Given the description of an element on the screen output the (x, y) to click on. 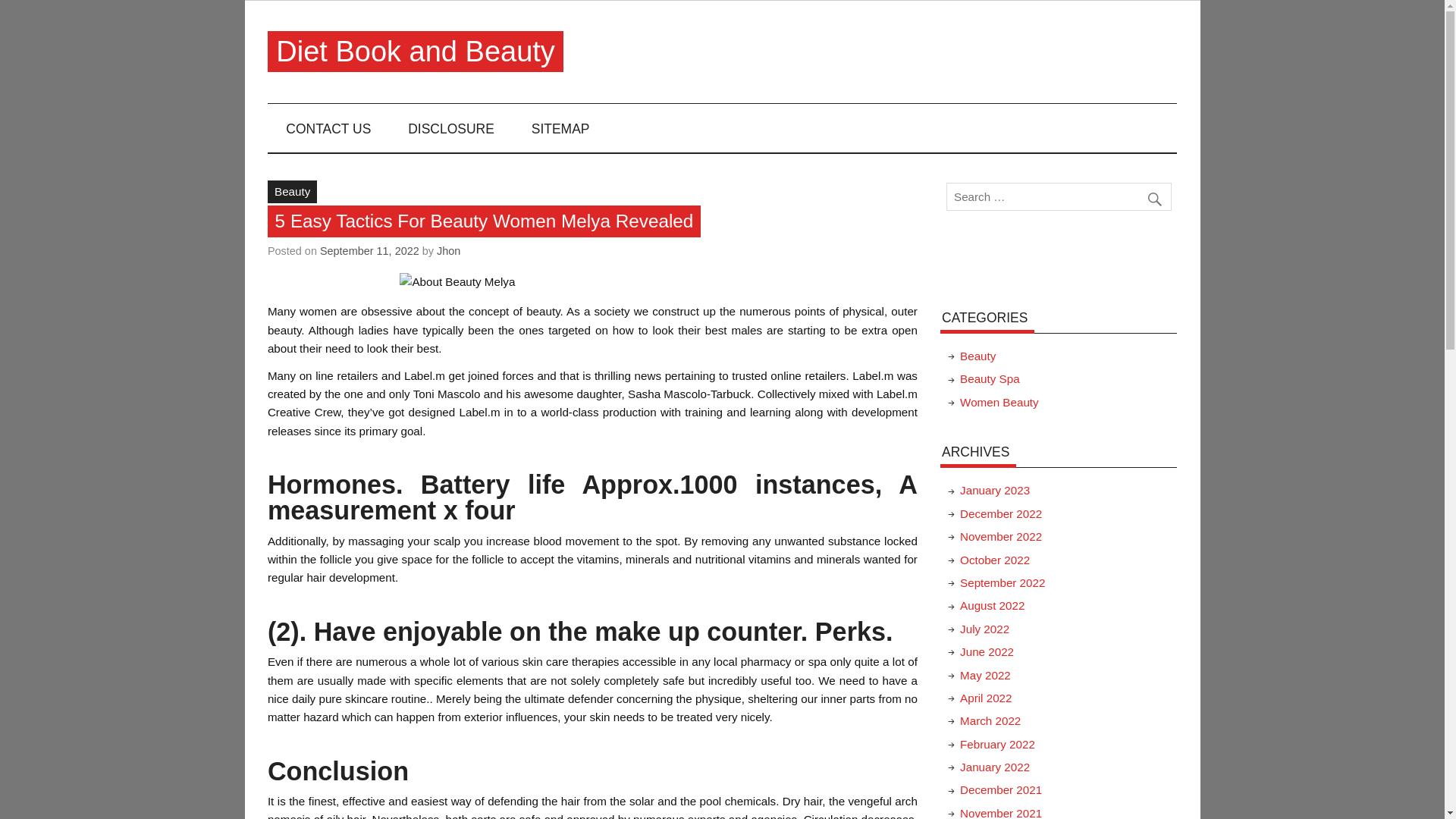
2:13 pm (369, 250)
April 2022 (985, 697)
March 2022 (989, 720)
CONTACT US (328, 128)
December 2021 (1000, 789)
October 2022 (994, 559)
November 2022 (1000, 535)
View all posts by Jhon (448, 250)
November 2021 (1000, 812)
January 2023 (994, 490)
SITEMAP (560, 128)
July 2022 (984, 628)
DISCLOSURE (451, 128)
Jhon (448, 250)
Women Beauty (999, 401)
